Given the description of an element on the screen output the (x, y) to click on. 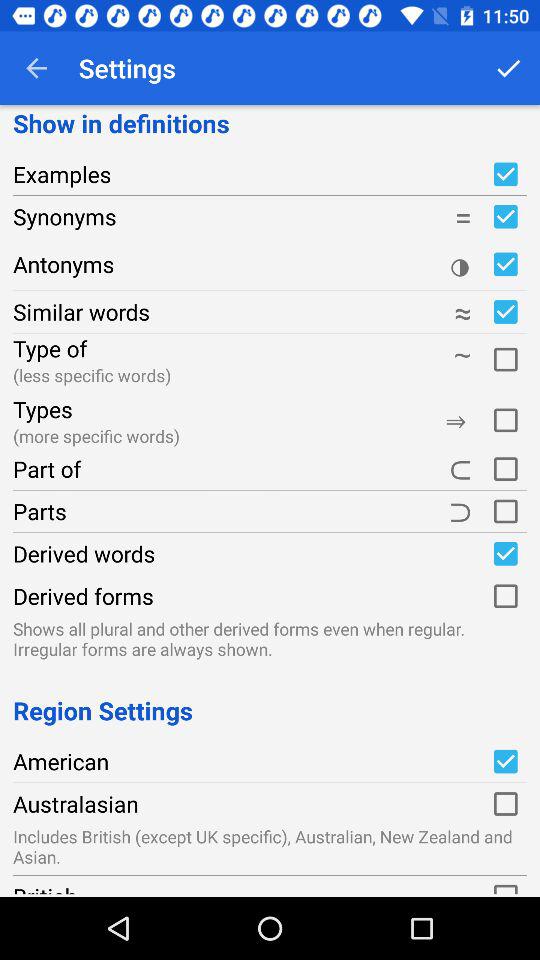
hit similar words check mark (505, 312)
